Given the description of an element on the screen output the (x, y) to click on. 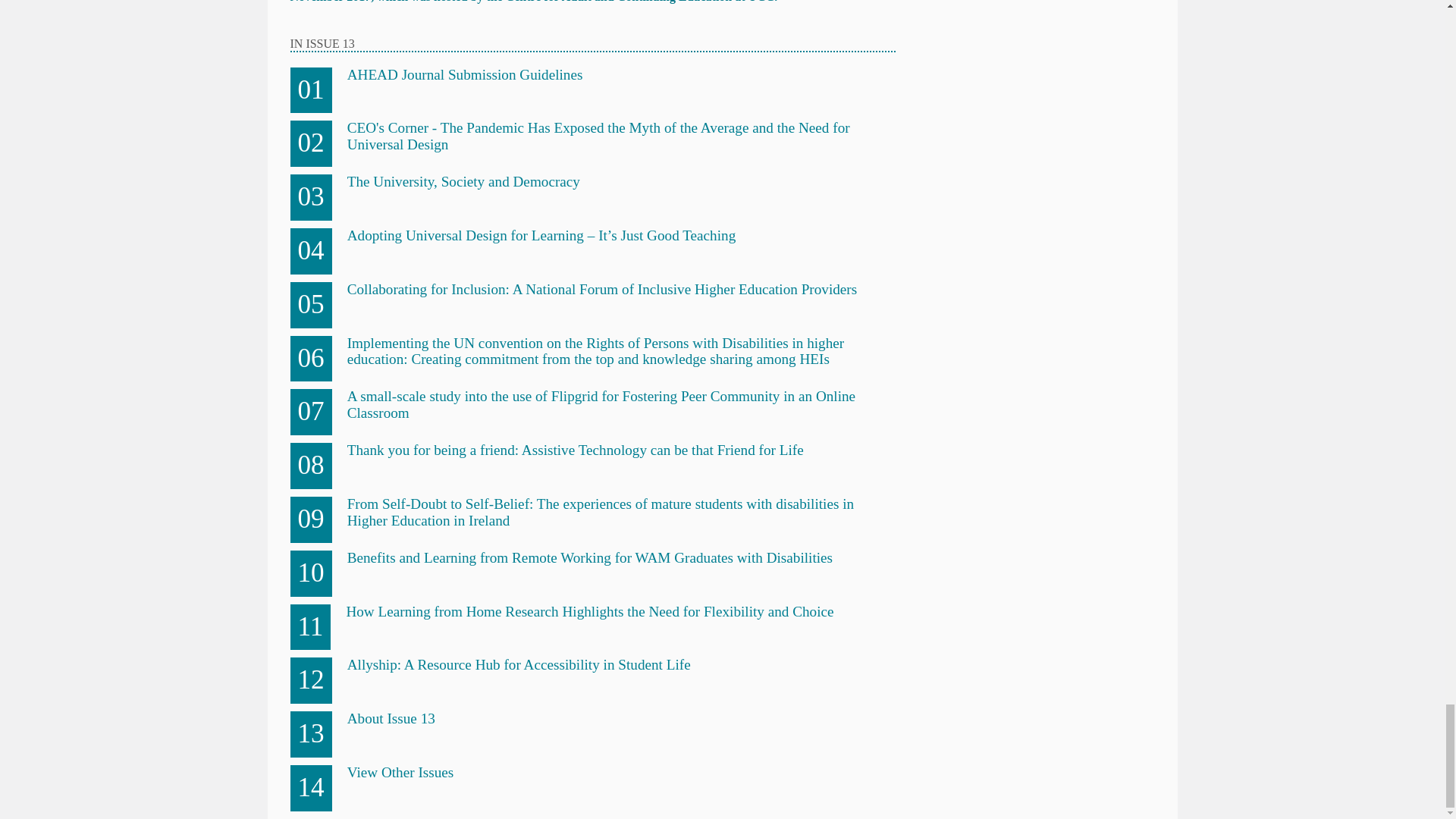
About Issue 13 (391, 718)
AHEAD Journal Submission Guidelines (465, 74)
Allyship: A Resource Hub for Accessibility in Student Life (518, 664)
View Other Issues (400, 772)
